Given the description of an element on the screen output the (x, y) to click on. 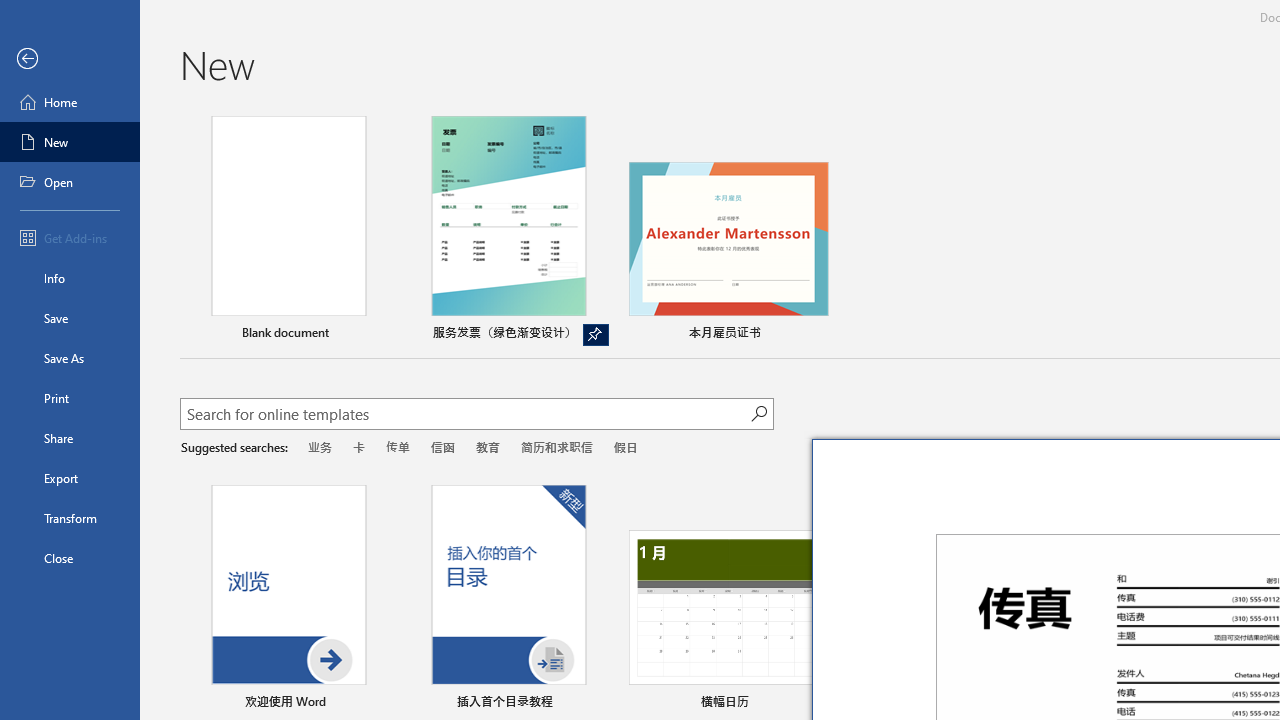
Start searching (758, 413)
Get Add-ins (69, 237)
Transform (69, 517)
Unpin from list (595, 335)
New (69, 141)
Back (69, 59)
Export (69, 477)
